Given the description of an element on the screen output the (x, y) to click on. 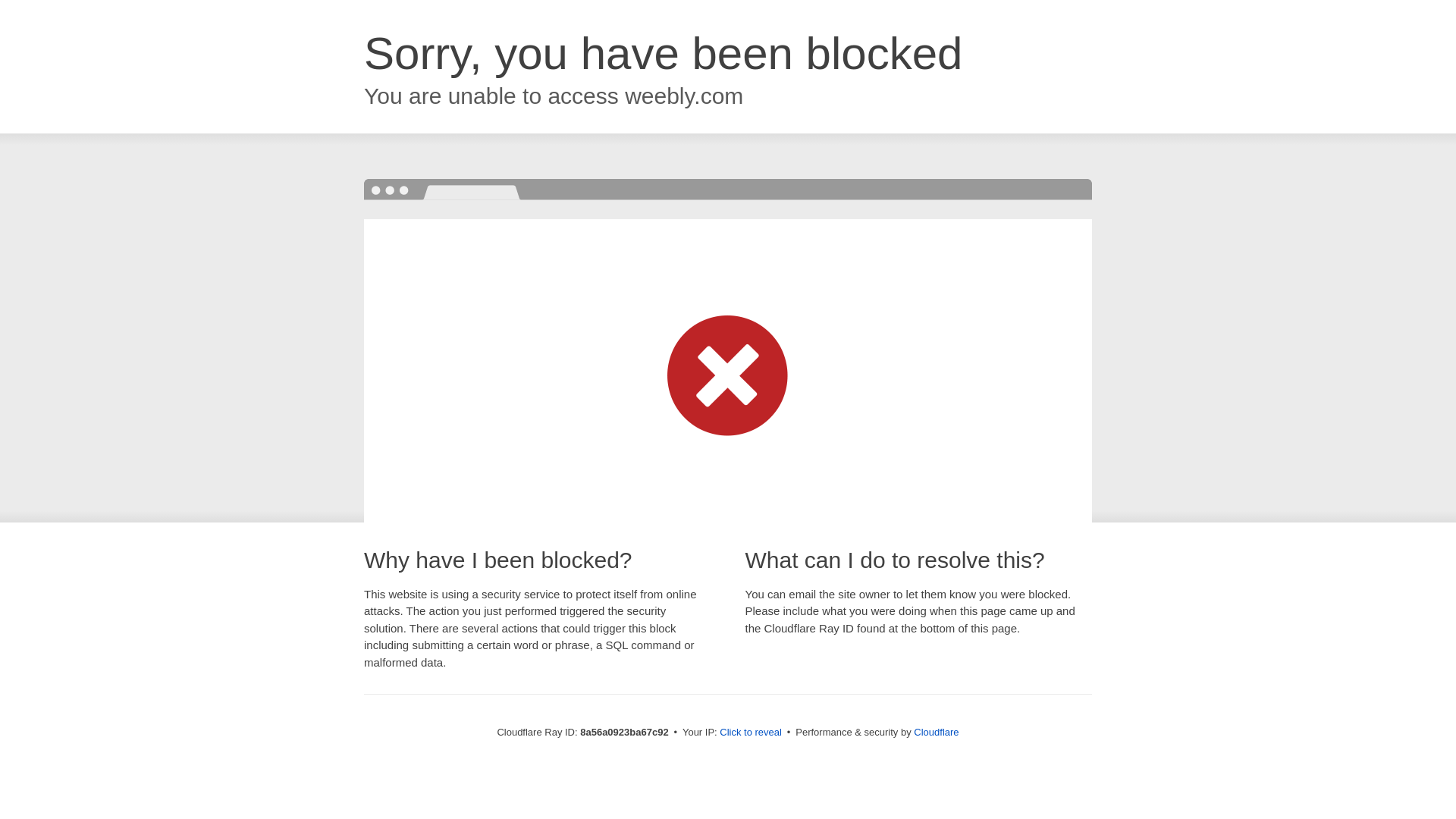
Cloudflare (936, 731)
Click to reveal (750, 732)
